Given the description of an element on the screen output the (x, y) to click on. 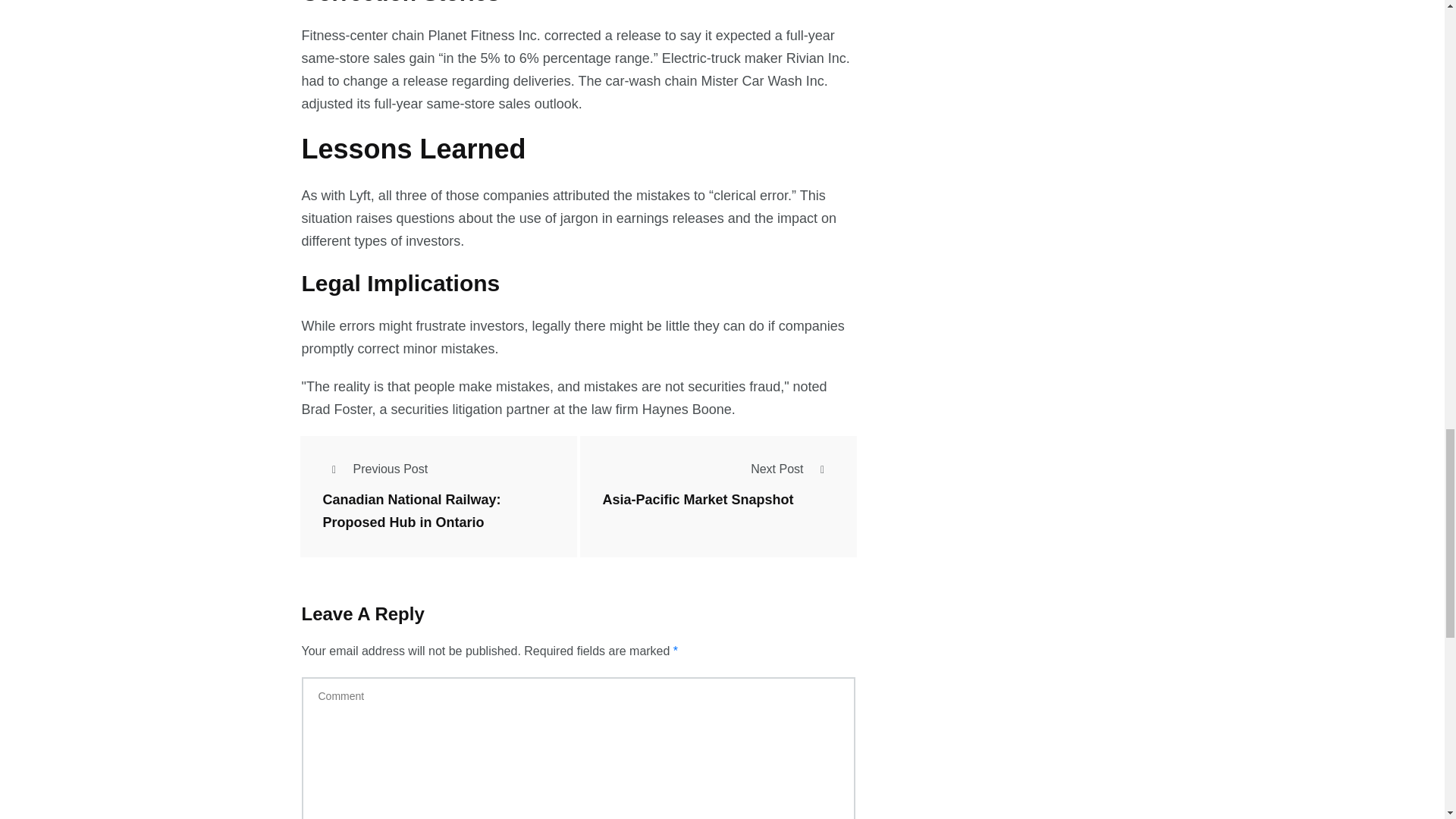
Previous Post (375, 468)
Canadian National Railway: Proposed Hub in Ontario (411, 511)
Next Post (791, 468)
Asia-Pacific Market Snapshot (697, 499)
